Given the description of an element on the screen output the (x, y) to click on. 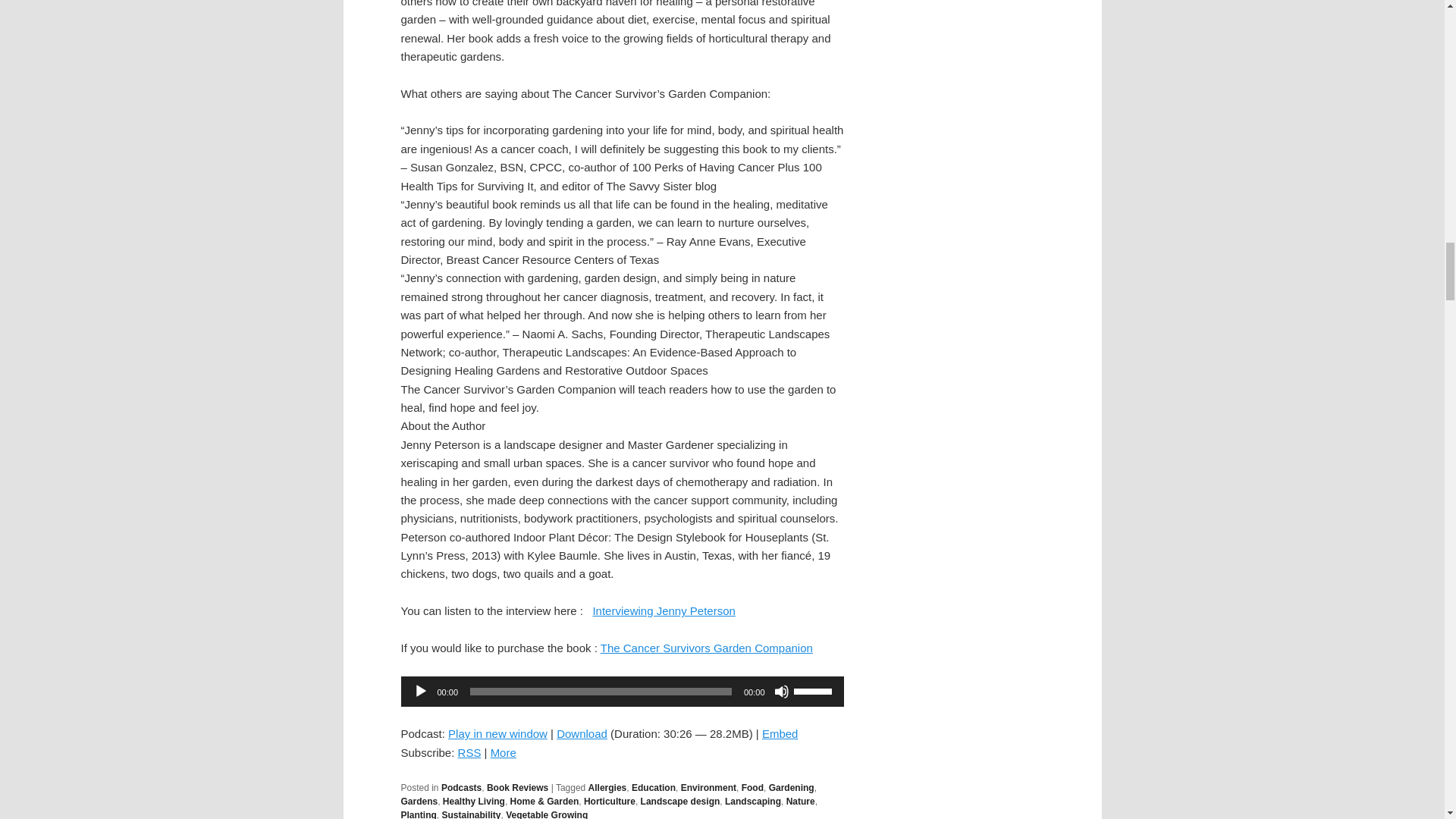
Subscribe via RSS (469, 752)
Embed (779, 733)
Play (420, 691)
Mute (781, 691)
Download (581, 733)
Play in new window (497, 733)
